Given the description of an element on the screen output the (x, y) to click on. 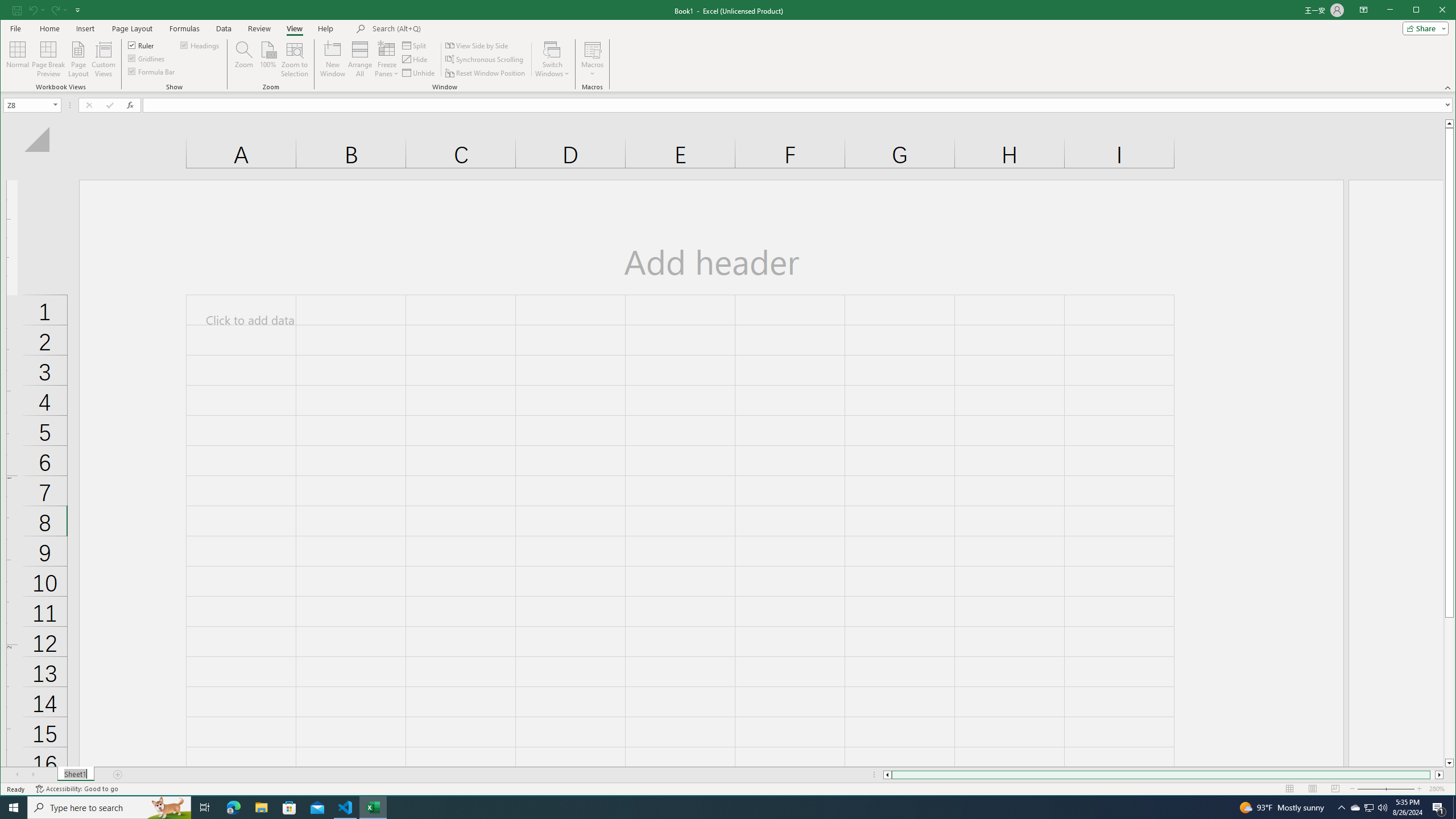
Headings (200, 44)
Type here to search (108, 807)
Zoom... (1355, 807)
Custom Views... (243, 59)
Action Center, 1 new notification (103, 59)
